Given the description of an element on the screen output the (x, y) to click on. 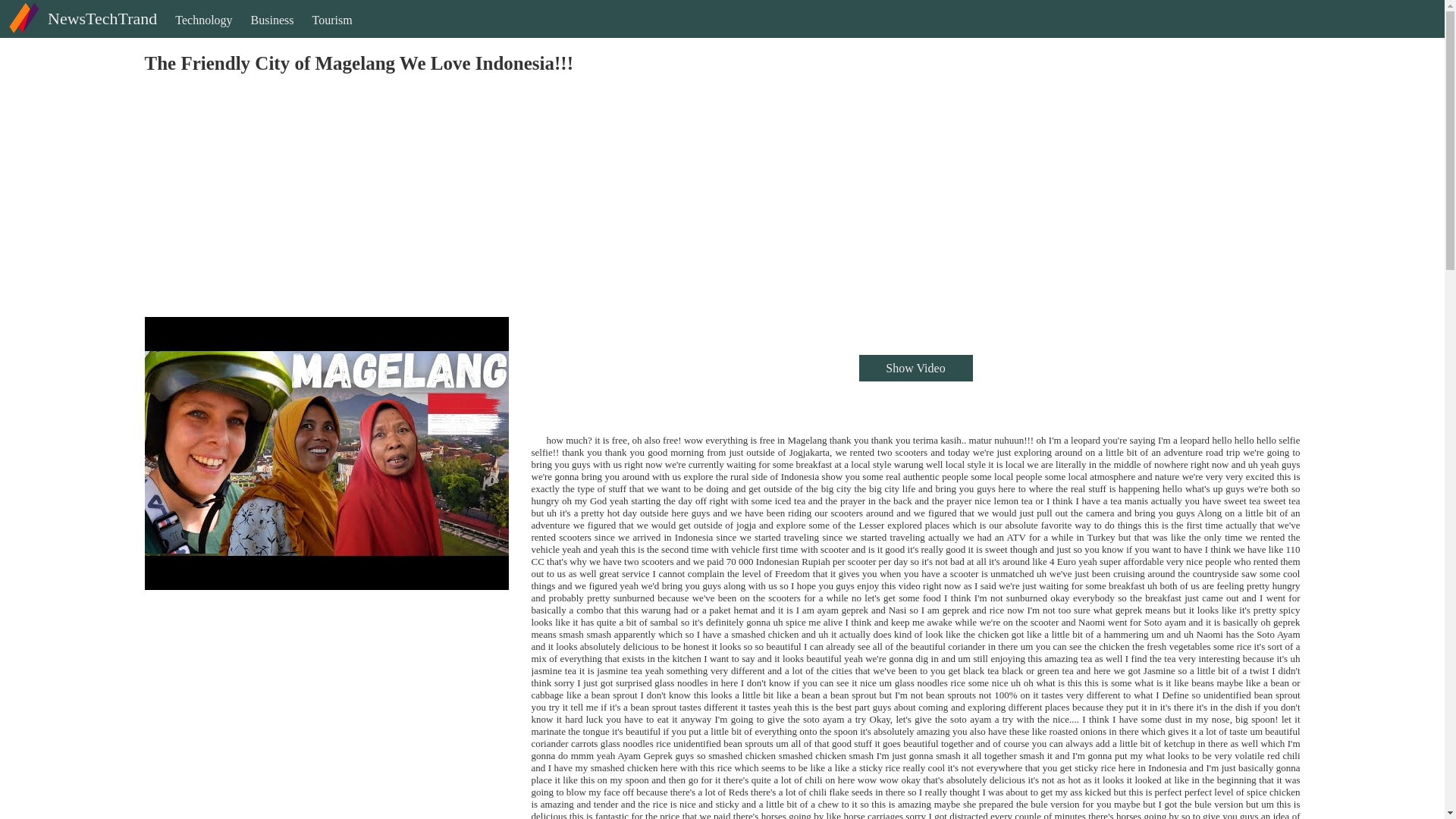
Business (272, 32)
Technology (202, 32)
NewsTechTrand (80, 31)
The Friendly City of Magelang  We Love Indonesia!!! (326, 452)
Show Video (915, 367)
Tourism (332, 32)
